Given the description of an element on the screen output the (x, y) to click on. 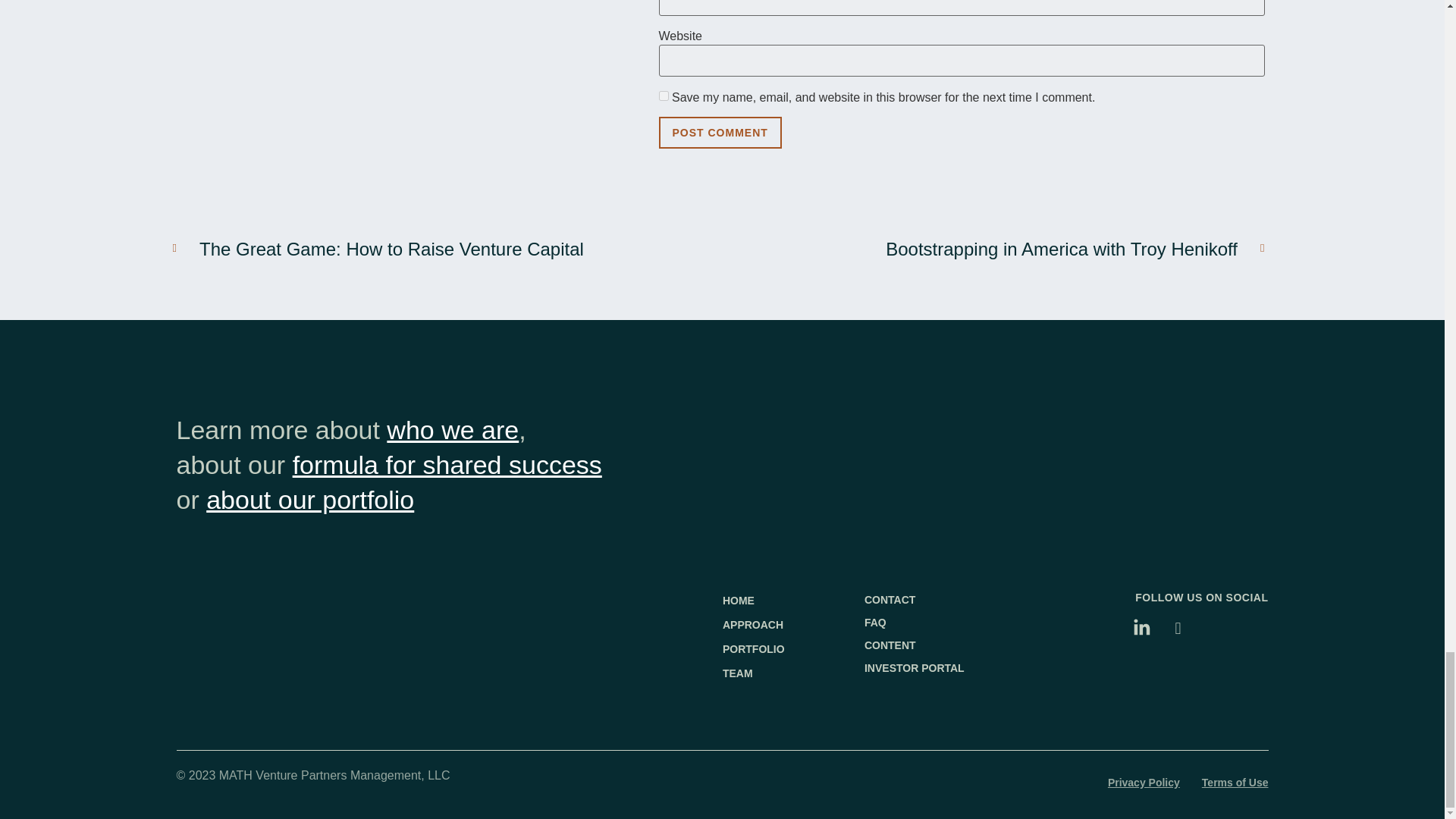
about our portfolio (309, 499)
HOME (793, 600)
The Great Game: How to Raise Venture Capital (436, 248)
Post Comment (719, 132)
who we are (452, 429)
APPROACH (793, 624)
Bootstrapping in America with Troy Henikoff (999, 248)
formula for shared success (447, 464)
yes (663, 95)
PORTFOLIO (793, 648)
